Given the description of an element on the screen output the (x, y) to click on. 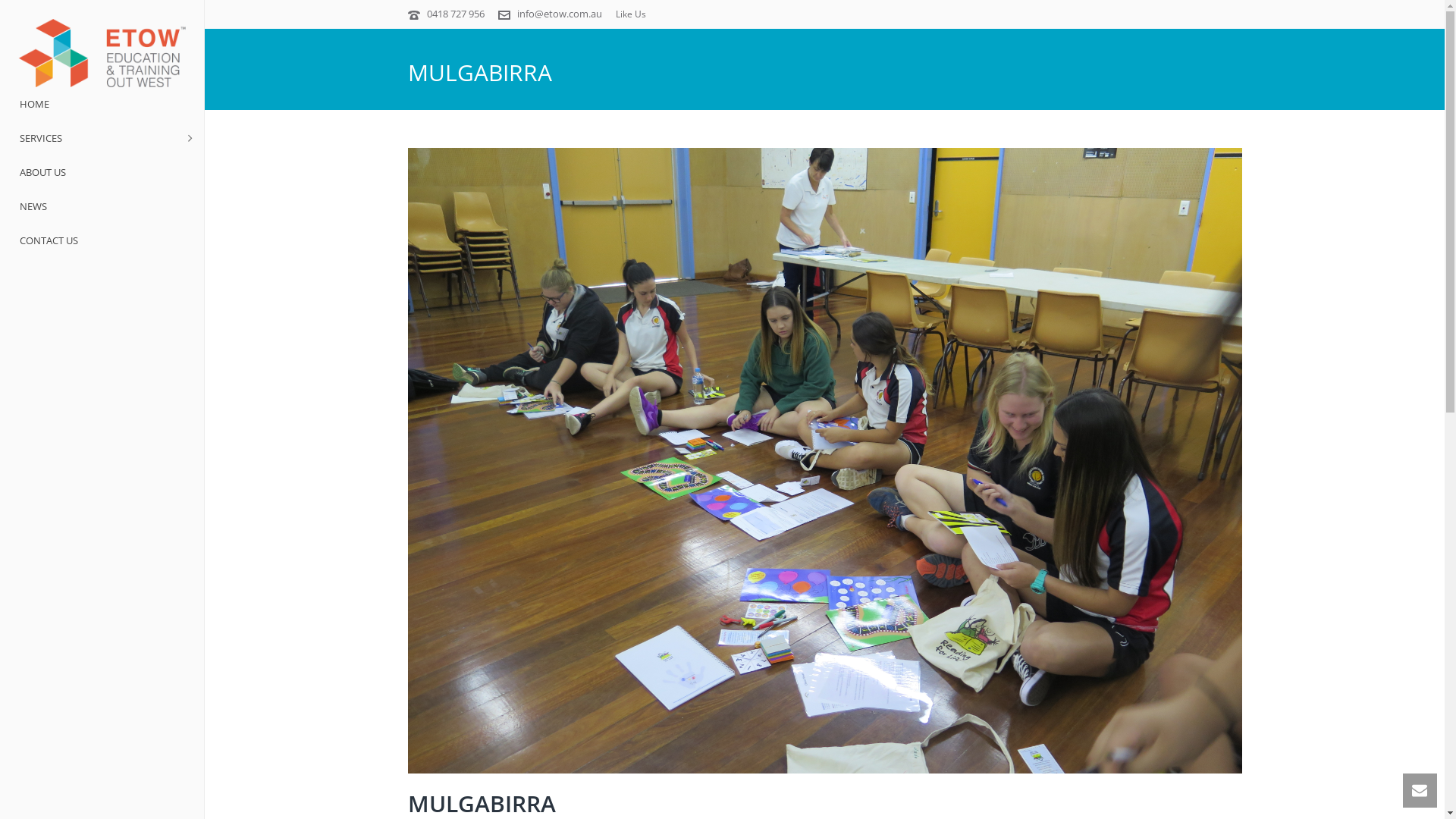
Like Us Element type: text (630, 13)
info@etow.com.au Element type: text (559, 13)
NEWS Element type: text (101, 206)
CONTACT US Element type: text (101, 240)
SERVICES Element type: text (101, 138)
  Element type: text (824, 460)
Mulgabirra Element type: hover (824, 460)
0418 727 956 Element type: text (454, 13)
ABOUT US Element type: text (101, 172)
HOME Element type: text (101, 104)
Education & Training Out West Element type: hover (101, 52)
